Given the description of an element on the screen output the (x, y) to click on. 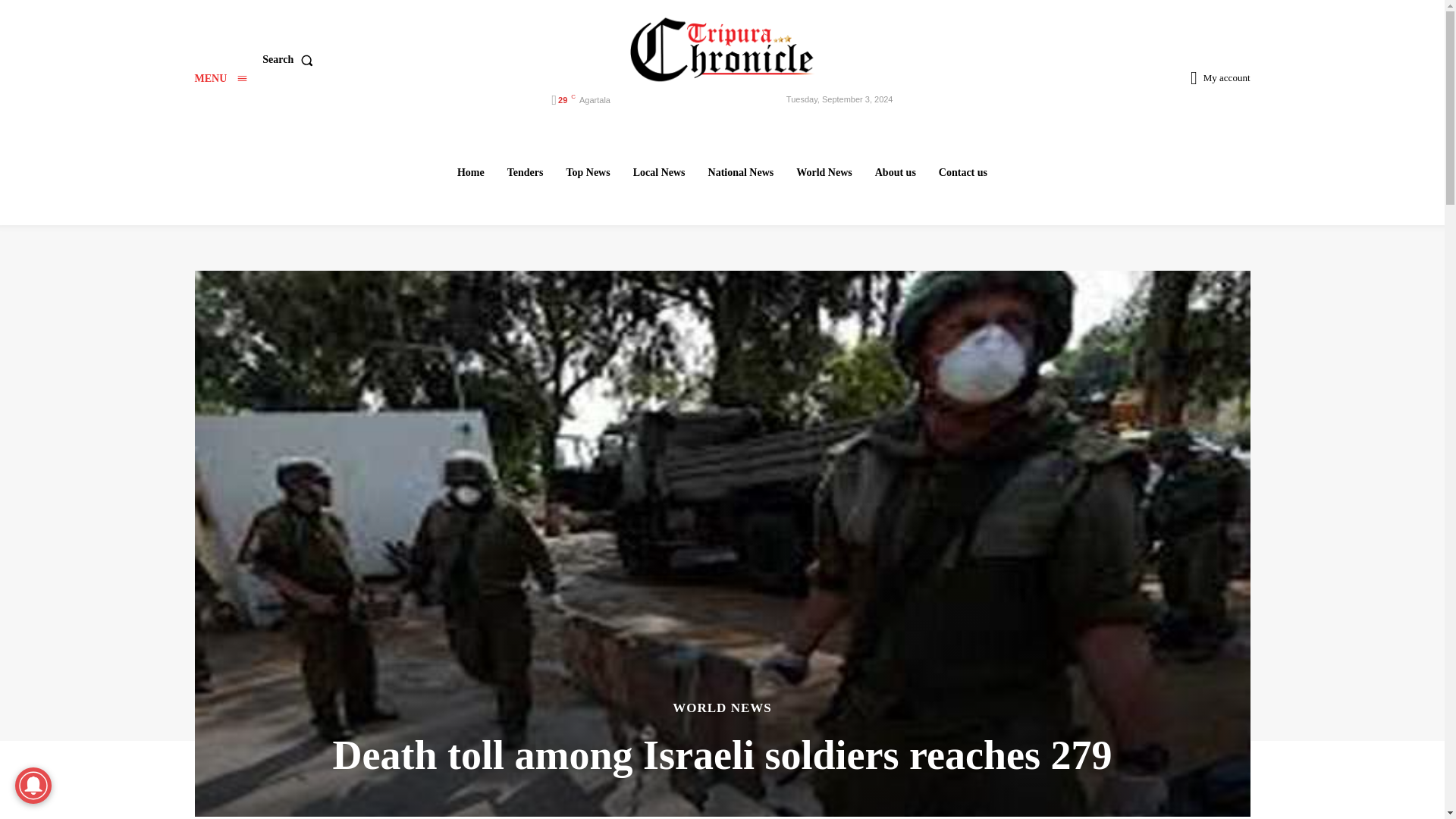
Local News (659, 172)
World News (824, 172)
Search (290, 60)
Menu (220, 78)
MENU (220, 78)
National News (740, 172)
Home (470, 172)
Top News (587, 172)
Tenders (525, 172)
